Given the description of an element on the screen output the (x, y) to click on. 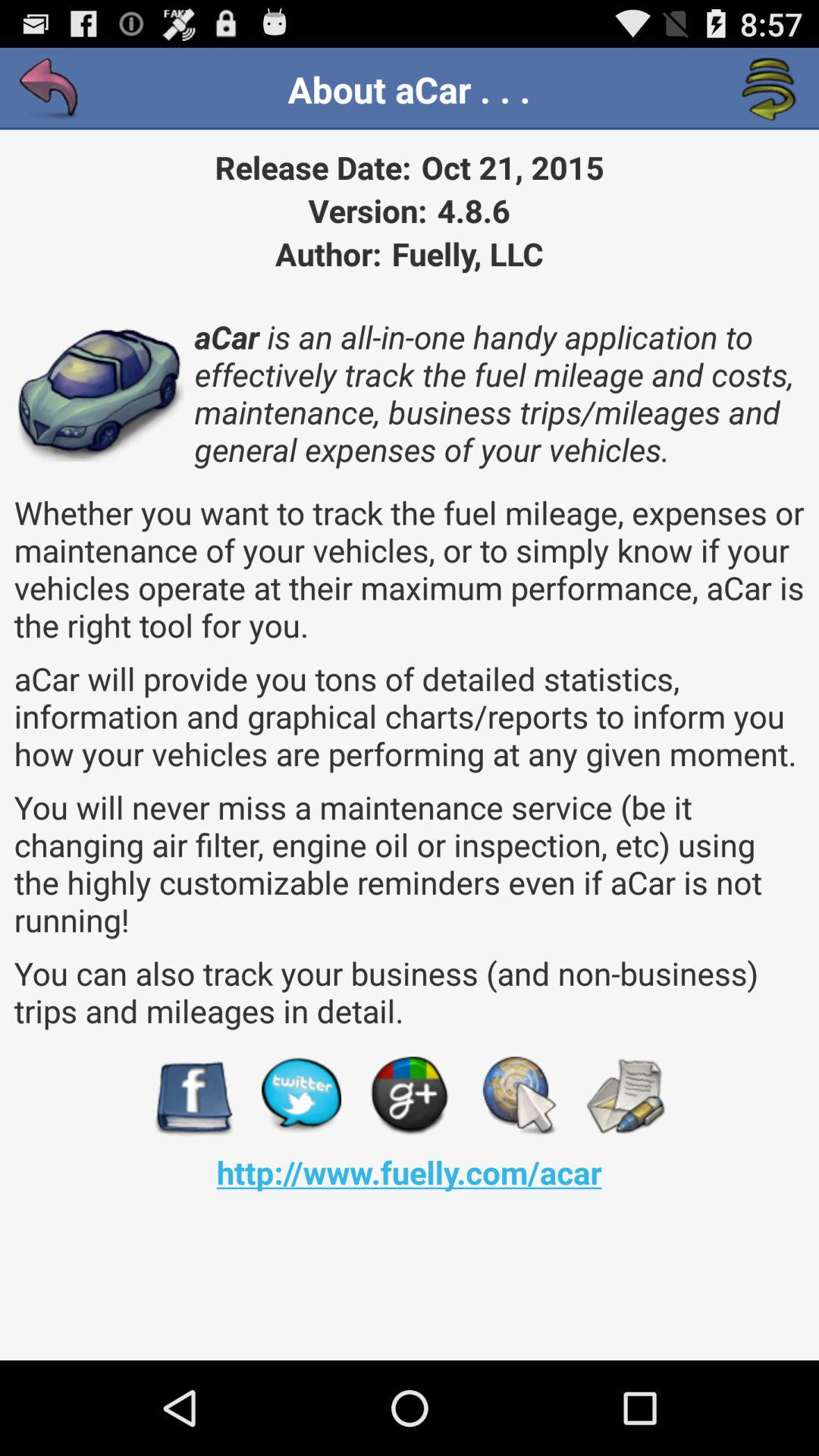
open app above the acar is an icon (49, 89)
